Given the description of an element on the screen output the (x, y) to click on. 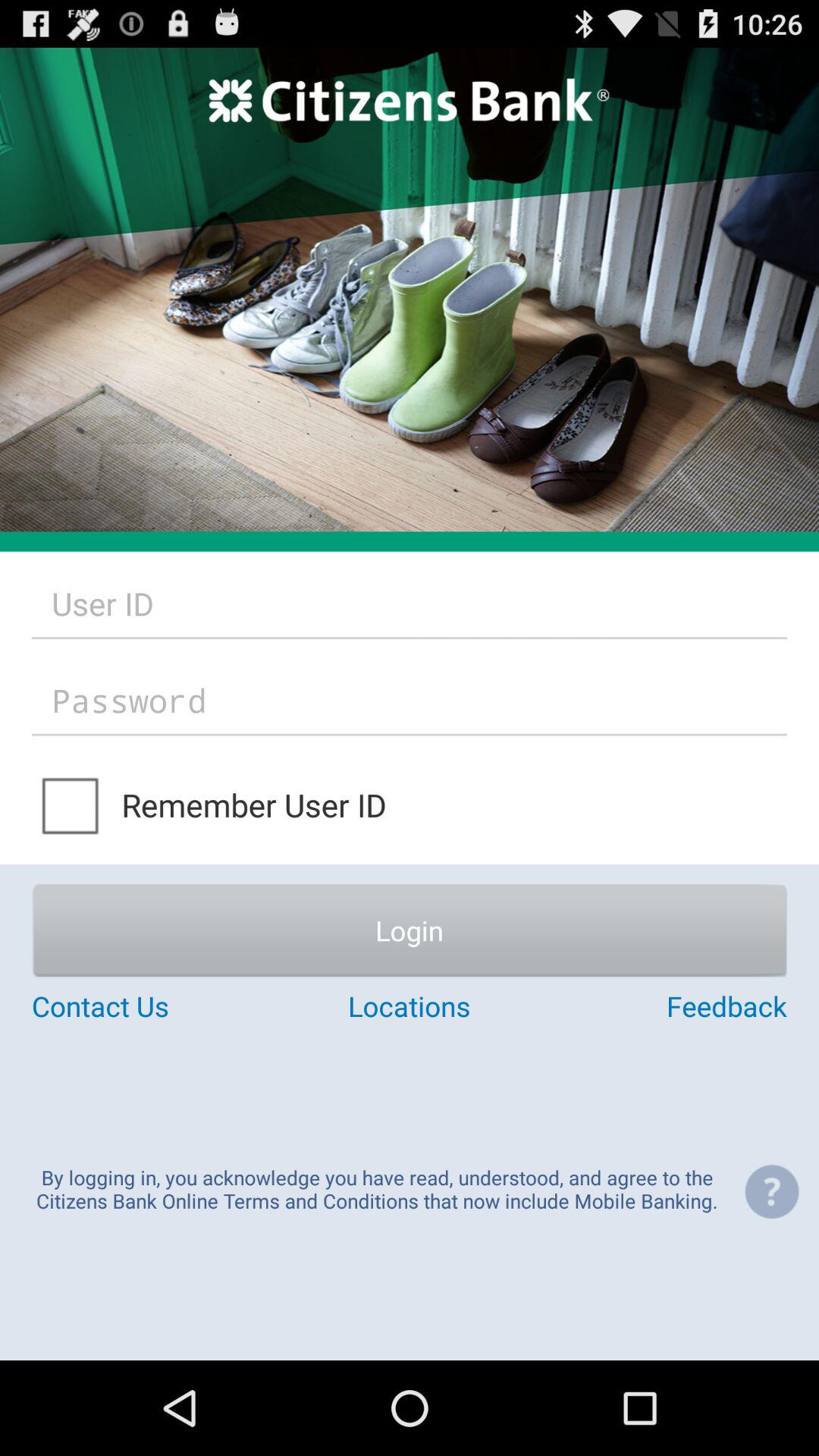
scroll until the feedback item (661, 1005)
